Given the description of an element on the screen output the (x, y) to click on. 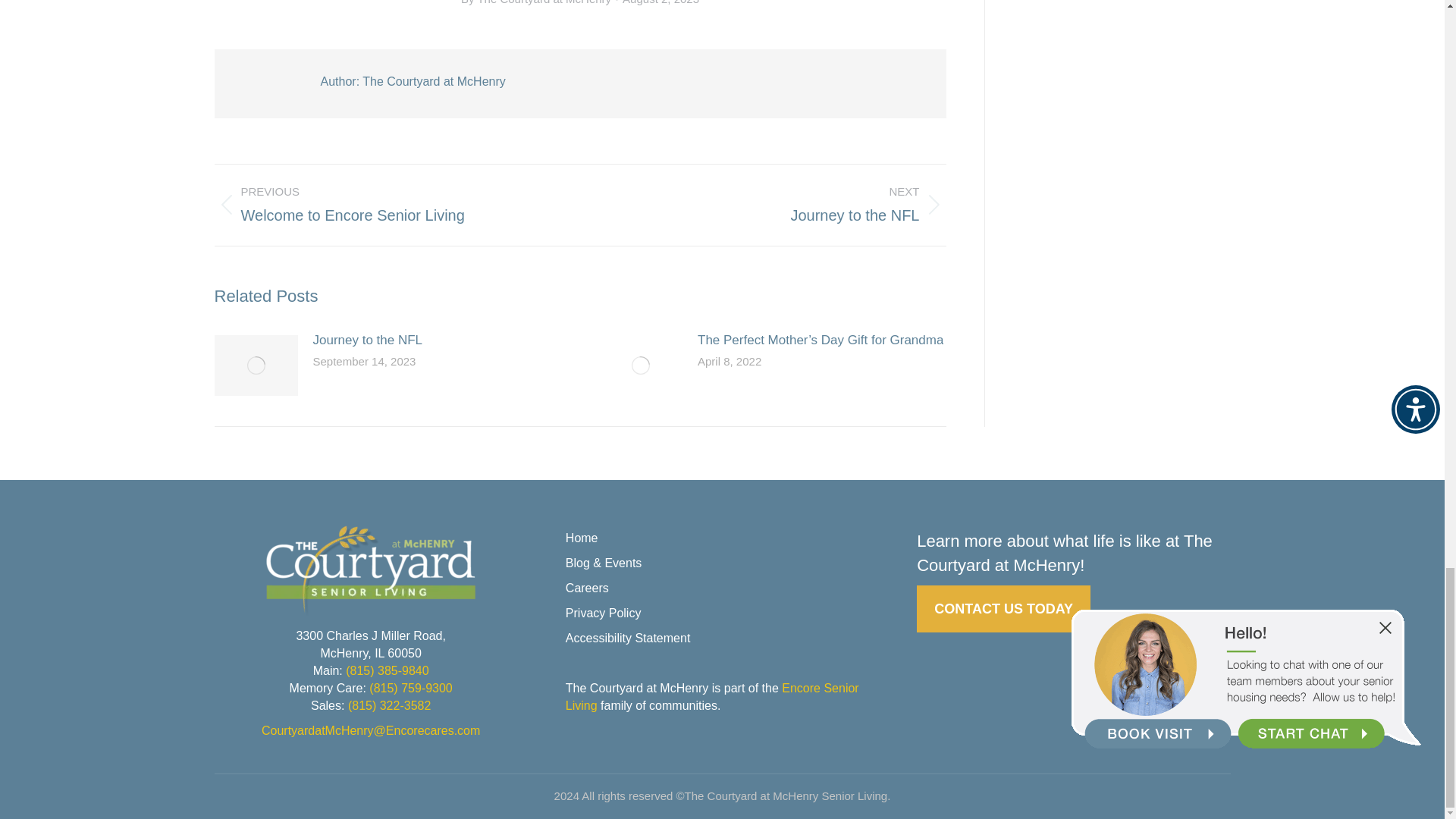
August 2, 2023 (660, 3)
View all posts by The Courtyard at McHenry (539, 3)
10:33 am (385, 204)
By The Courtyard at McHenry (774, 204)
